Given the description of an element on the screen output the (x, y) to click on. 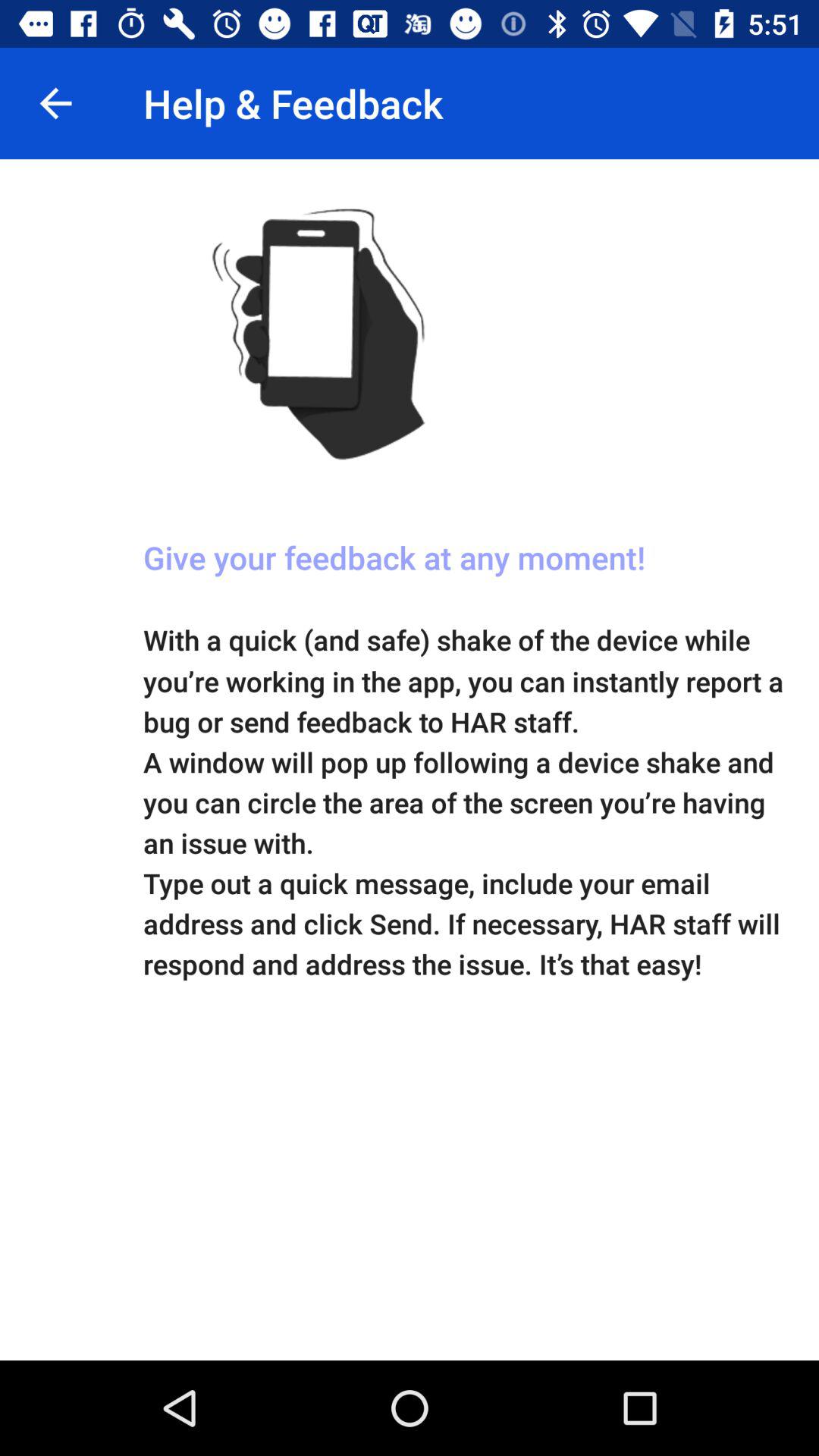
turn off the item to the left of help & feedback (55, 103)
